Given the description of an element on the screen output the (x, y) to click on. 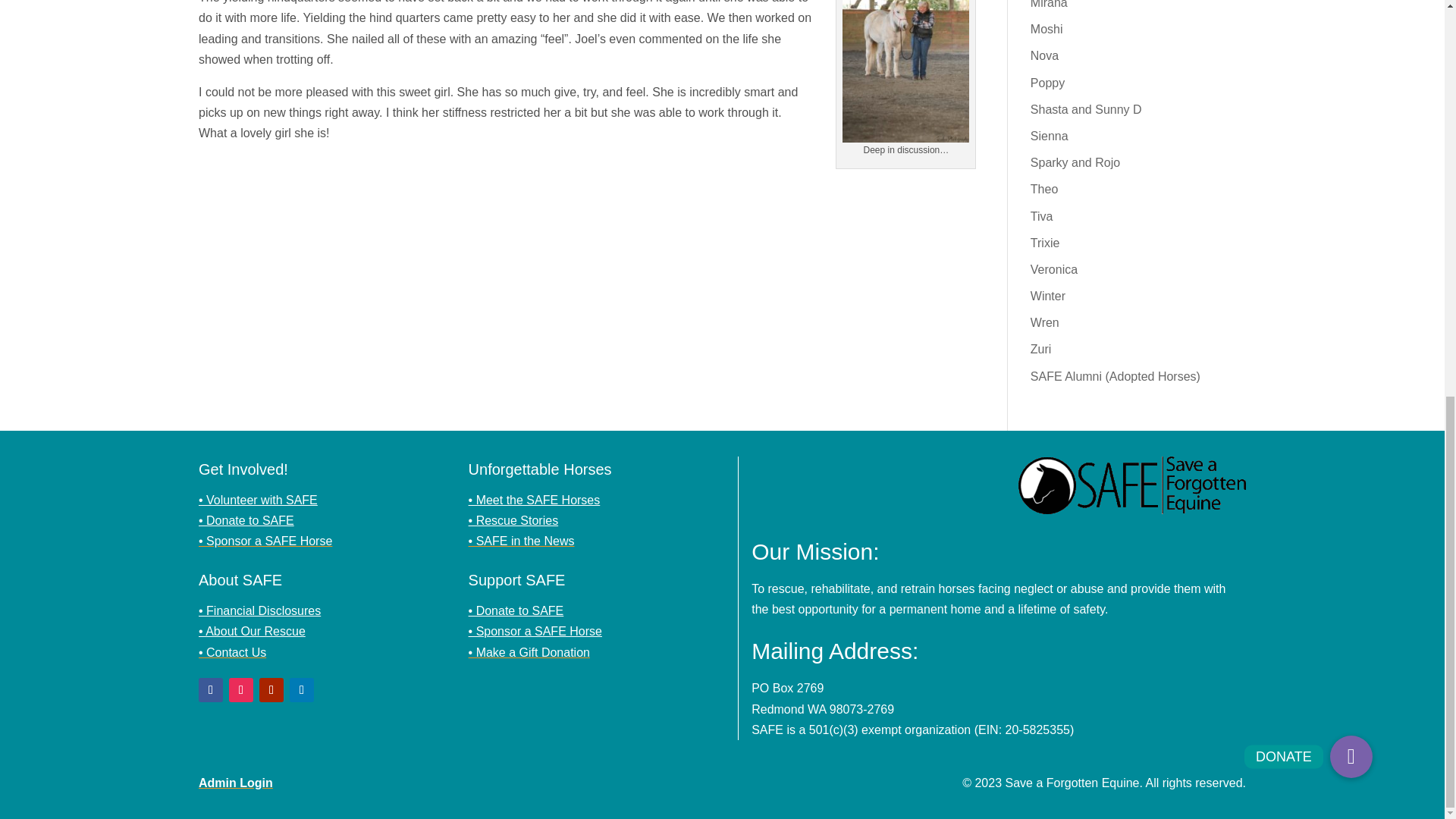
Follow on Instagram (240, 689)
Follow on Facebook (210, 689)
Follow on Youtube (271, 689)
Follow on LinkedIn (301, 689)
